Given the description of an element on the screen output the (x, y) to click on. 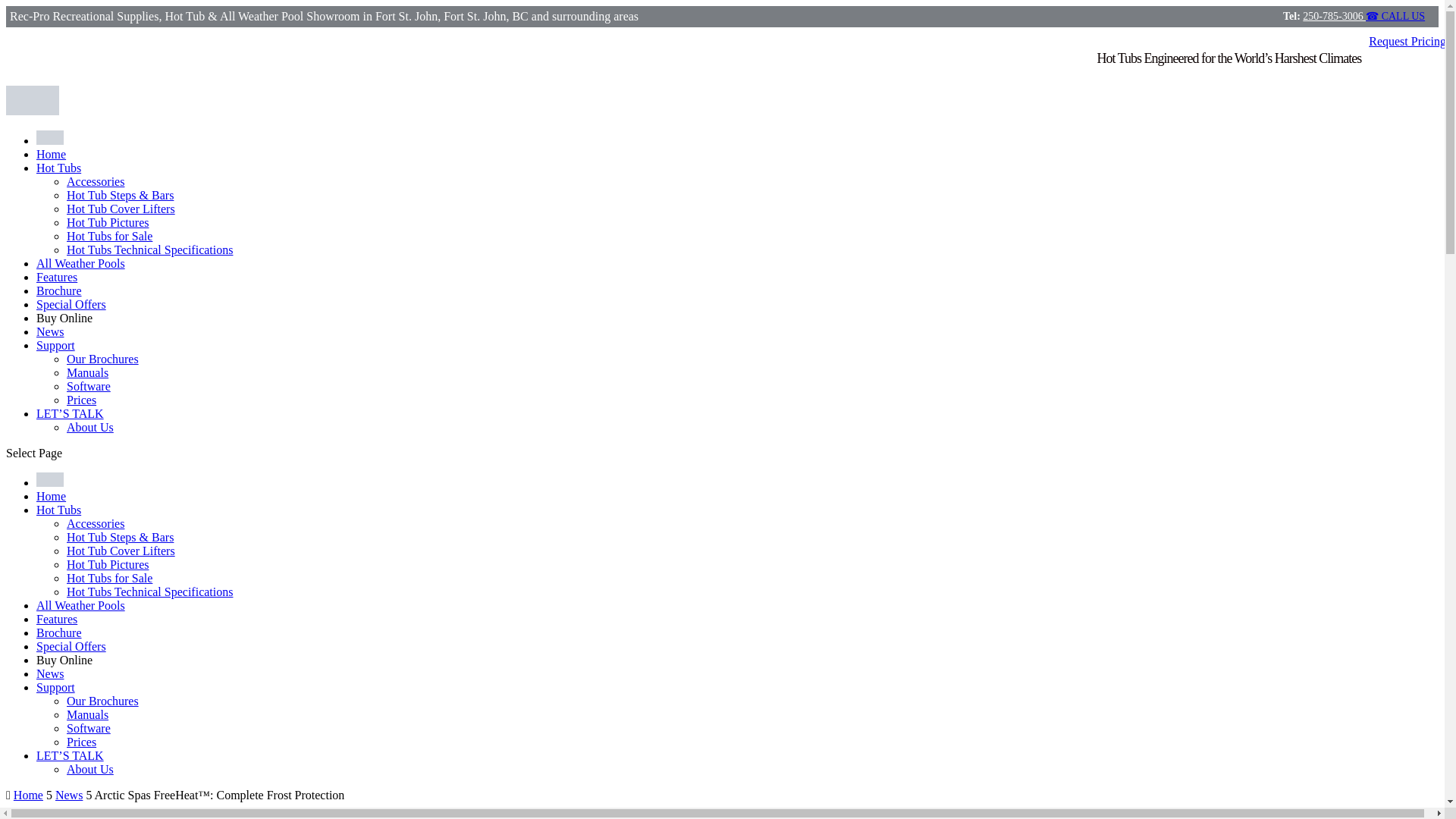
Hot Tubs for Sale (109, 577)
Software (88, 386)
Return to the home page (50, 495)
Support (55, 345)
All Weather Pools (80, 604)
Hot Tubs Technical Specifications (149, 591)
Features (56, 277)
News (50, 331)
Return to the home page (50, 154)
Special Offers (71, 304)
Choose Your Location (50, 140)
Brochure (58, 632)
buy artic spas hot tub parts online (64, 318)
Hot Tubs (58, 509)
